Given the description of an element on the screen output the (x, y) to click on. 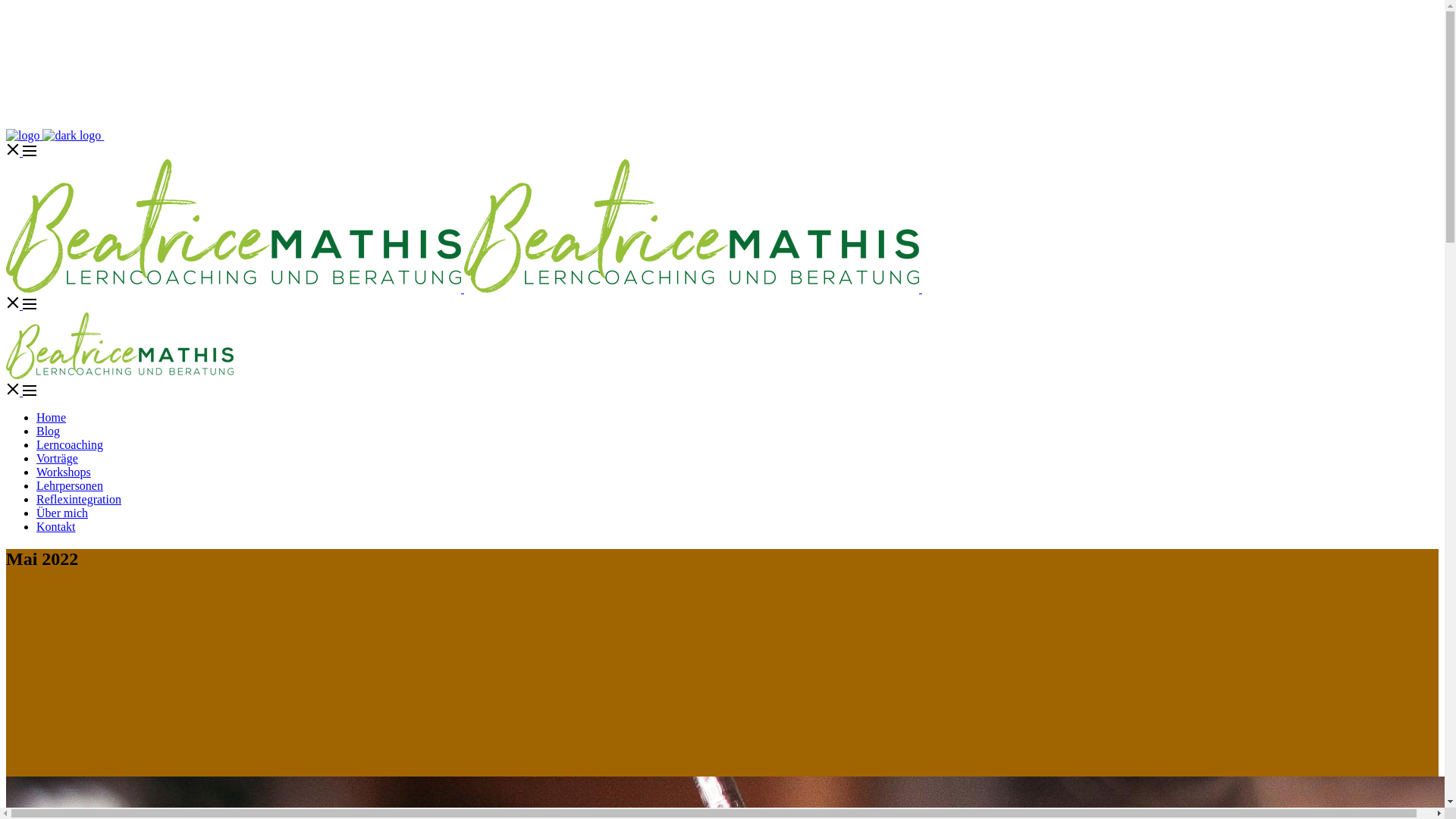
Home Element type: text (50, 417)
Reflexintegration Element type: text (78, 498)
Kontakt Element type: text (55, 526)
Lerncoaching Element type: text (69, 444)
Lehrpersonen Element type: text (69, 485)
Blog Element type: text (47, 430)
Workshops Element type: text (63, 471)
